Given the description of an element on the screen output the (x, y) to click on. 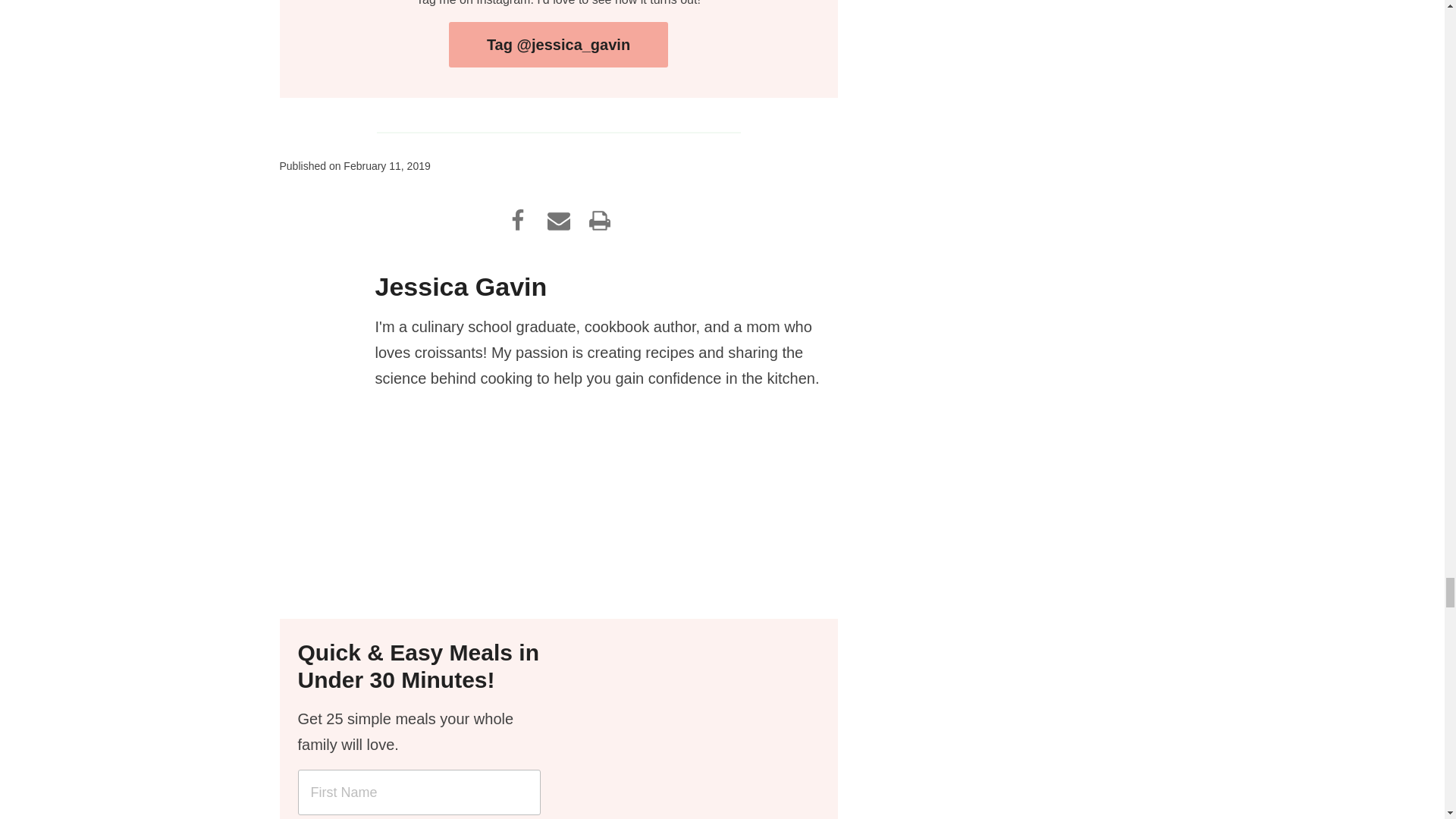
Print this Page (599, 219)
Share on Facebook (517, 219)
Share via Email (558, 219)
